Given the description of an element on the screen output the (x, y) to click on. 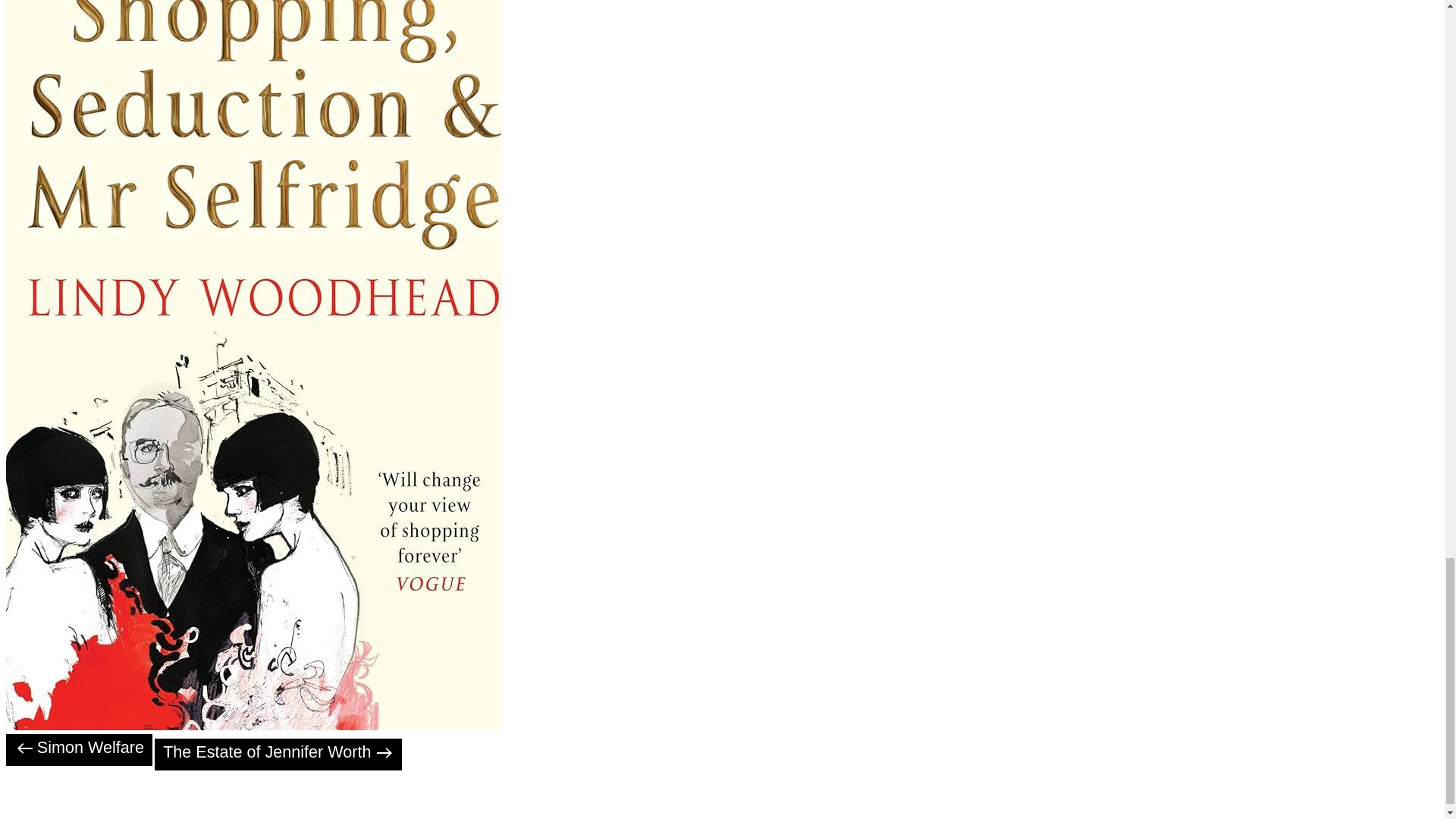
The Estate of Jennifer Worth  (277, 754)
 Simon Welfare (78, 749)
